Given the description of an element on the screen output the (x, y) to click on. 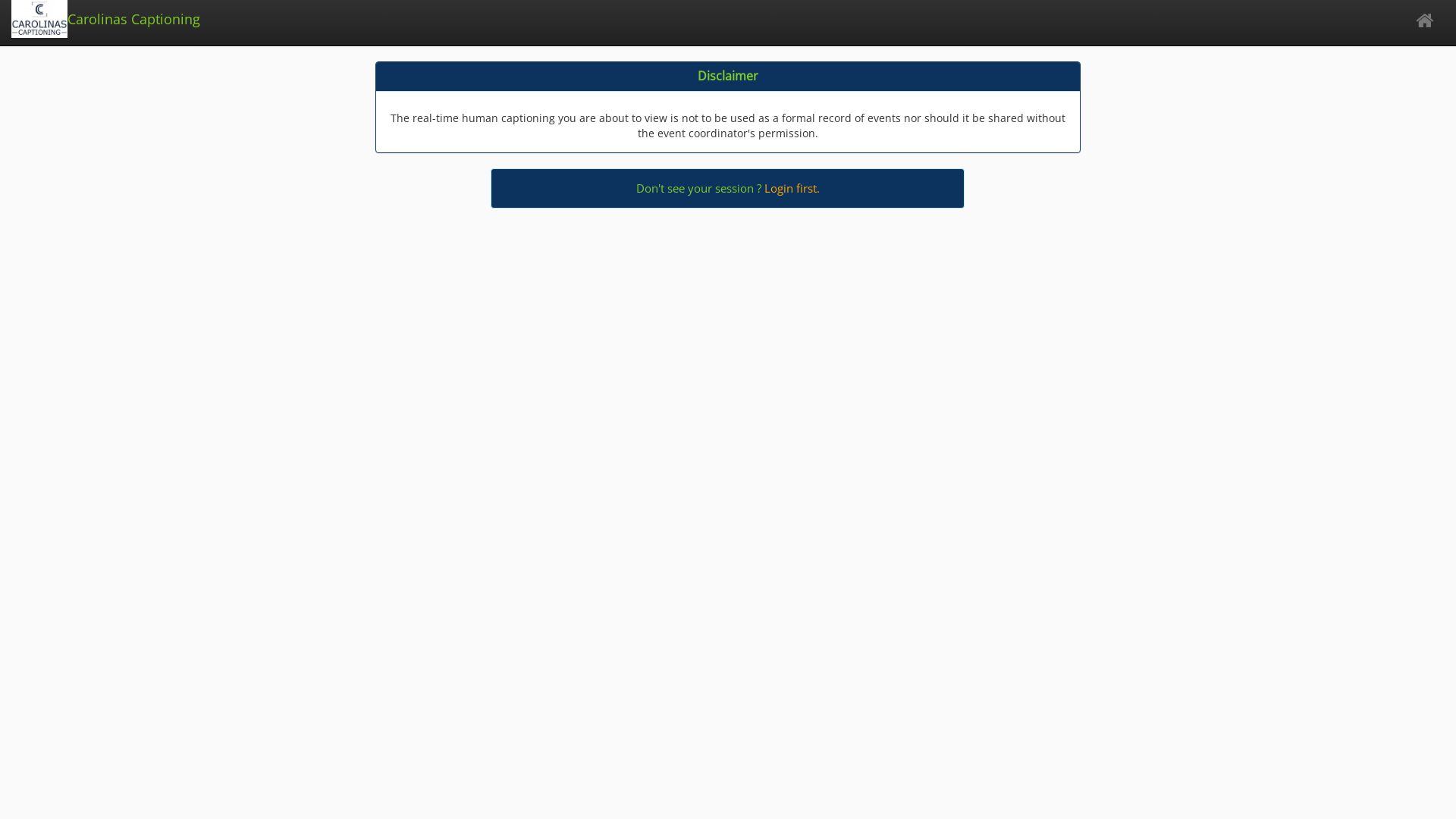
Login first. Element type: text (791, 187)
